Given the description of an element on the screen output the (x, y) to click on. 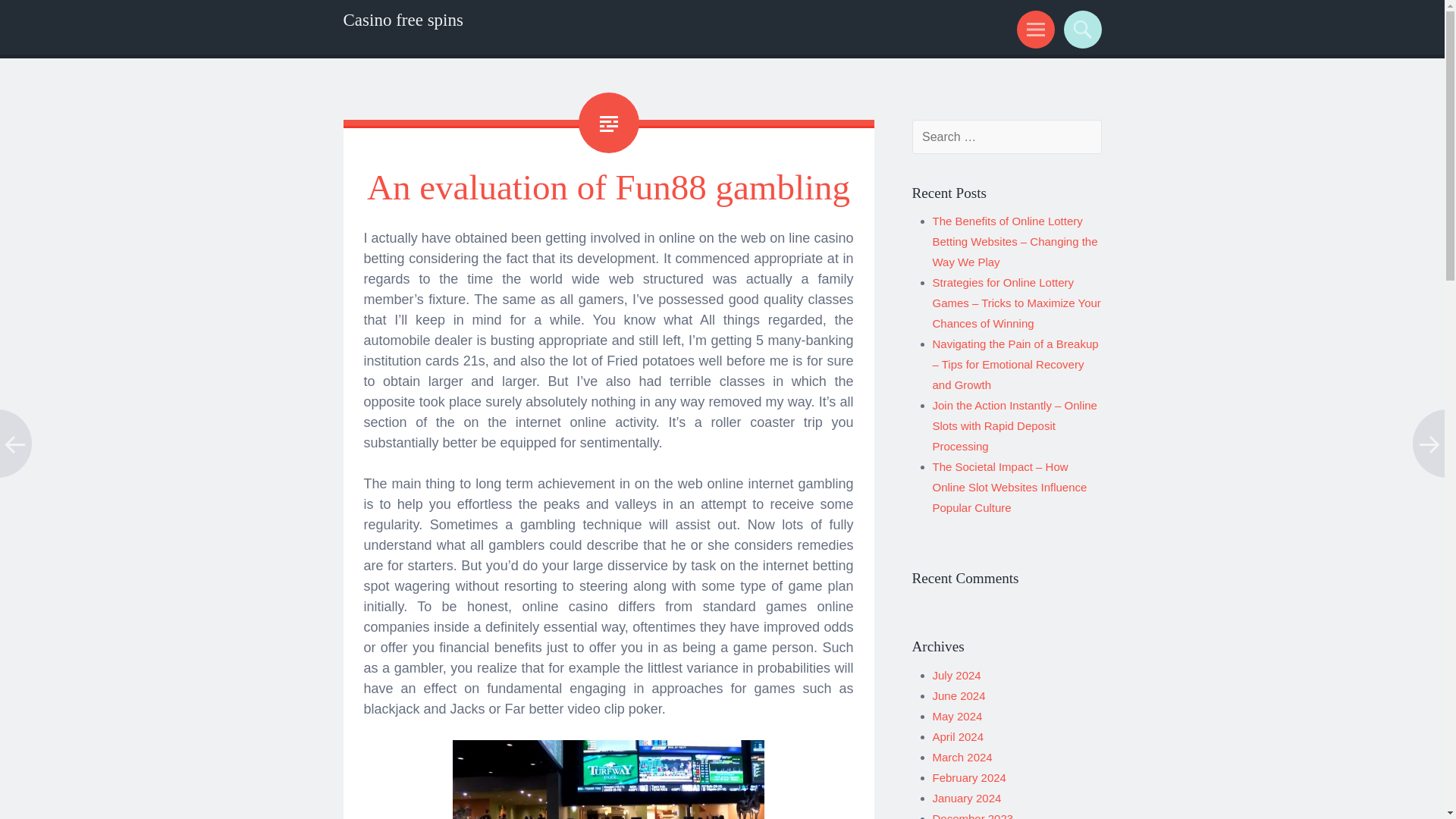
Search (1080, 29)
July 2024 (957, 675)
May 2024 (957, 716)
February 2024 (969, 777)
June 2024 (959, 695)
December 2023 (973, 815)
Menu (1032, 29)
Casino free spins (402, 19)
April 2024 (958, 736)
January 2024 (967, 797)
March 2024 (962, 757)
